Given the description of an element on the screen output the (x, y) to click on. 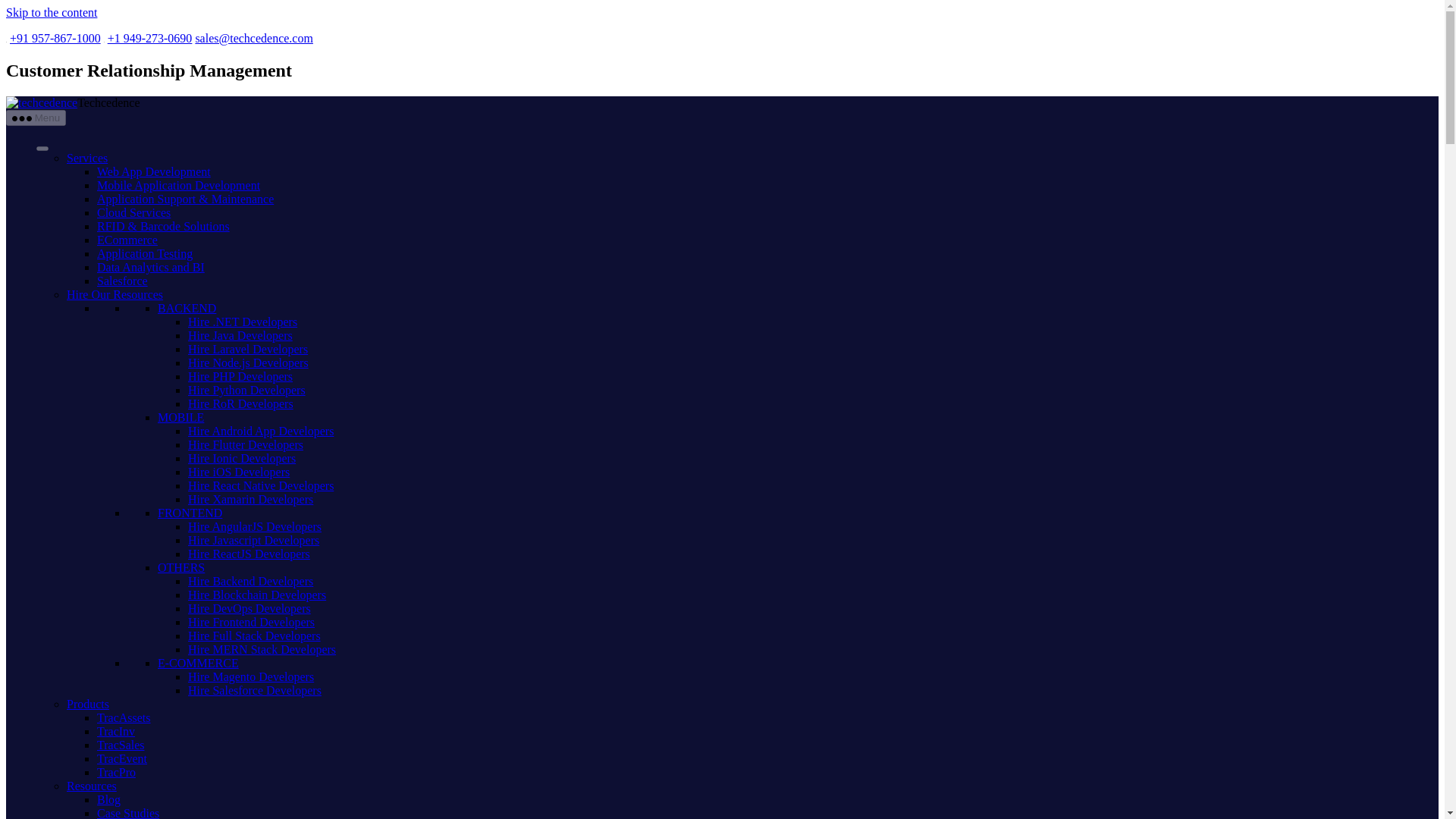
Services (86, 157)
Hire PHP Developers (239, 376)
Application Testing (144, 253)
Hire Node.js Developers (247, 362)
Hire Flutter Developers (244, 444)
Hire Our Resources (114, 294)
Cloud Services (133, 212)
Menu (35, 117)
Hire iOS Developers (238, 472)
Hire React Native Developers (260, 485)
